Given the description of an element on the screen output the (x, y) to click on. 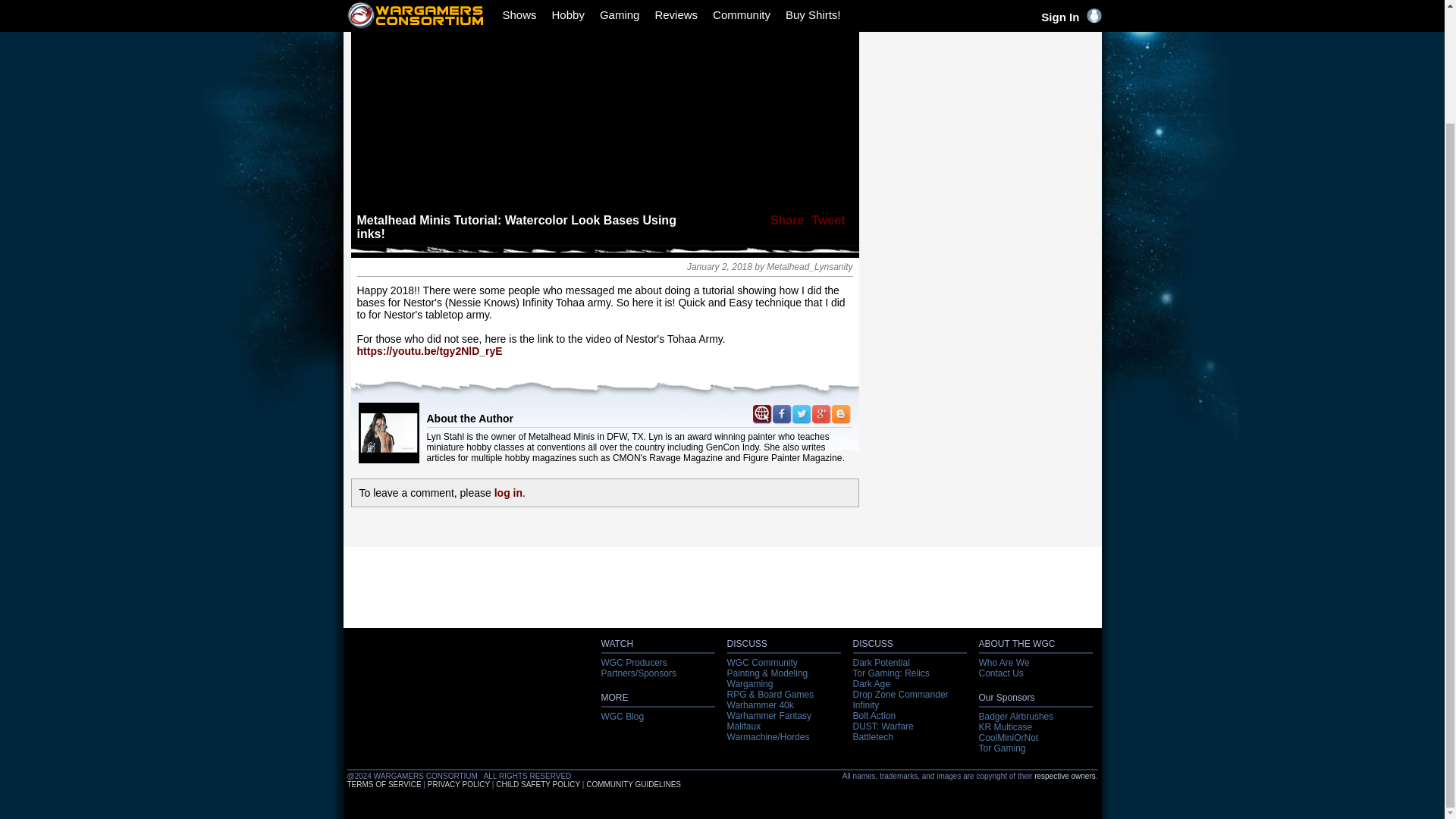
Visit Blog (840, 418)
Visit Blog (840, 414)
Advertisement (979, 46)
Visit Google Plus (820, 414)
Tweet (827, 219)
Visit Facebook (781, 418)
Visit Facebook (781, 414)
Visit Website (761, 414)
Follow on Twitter (801, 418)
Visit Google Plus (820, 418)
